Given the description of an element on the screen output the (x, y) to click on. 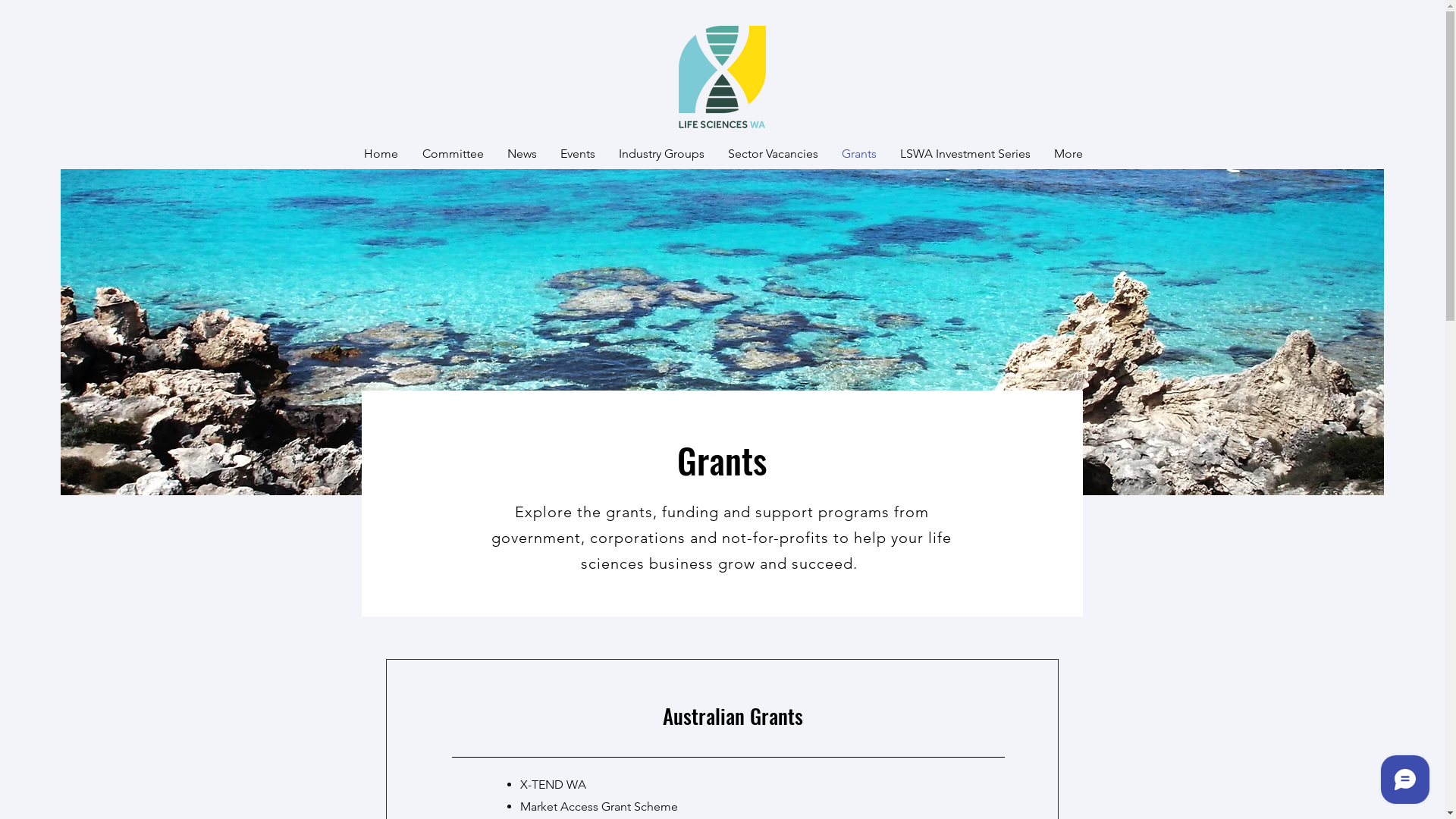
Grants Element type: text (858, 153)
Home Element type: text (379, 153)
Events Element type: text (576, 153)
LSWA Investment Series Element type: text (964, 153)
Industry Groups Element type: text (660, 153)
News Element type: text (520, 153)
Sector Vacancies Element type: text (772, 153)
Market Access Grant Scheme  Element type: text (600, 806)
Committee Element type: text (452, 153)
X-TEND WA Element type: text (553, 784)
